Given the description of an element on the screen output the (x, y) to click on. 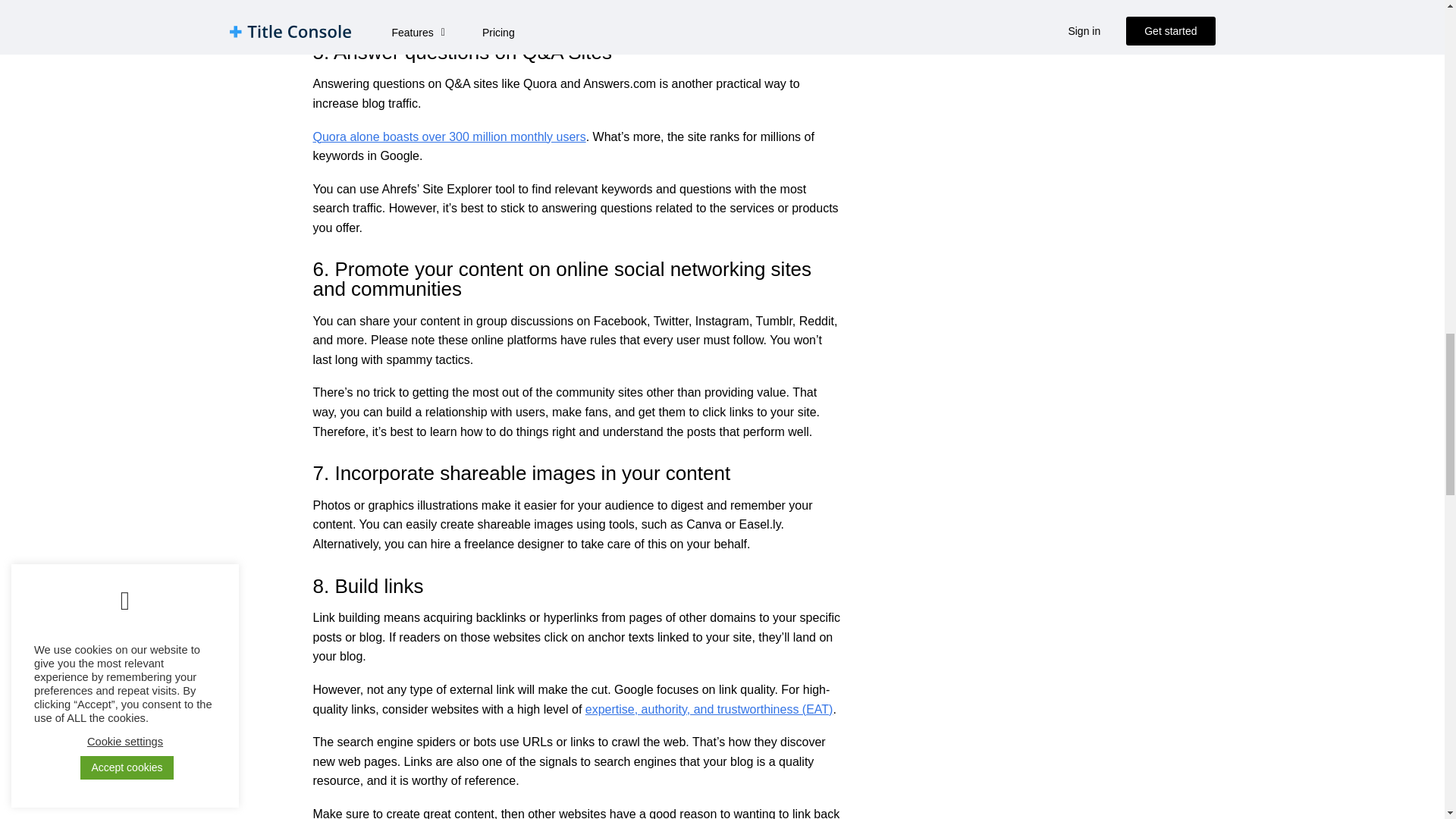
Quora alone boasts over 300 million monthly users (449, 136)
